Given the description of an element on the screen output the (x, y) to click on. 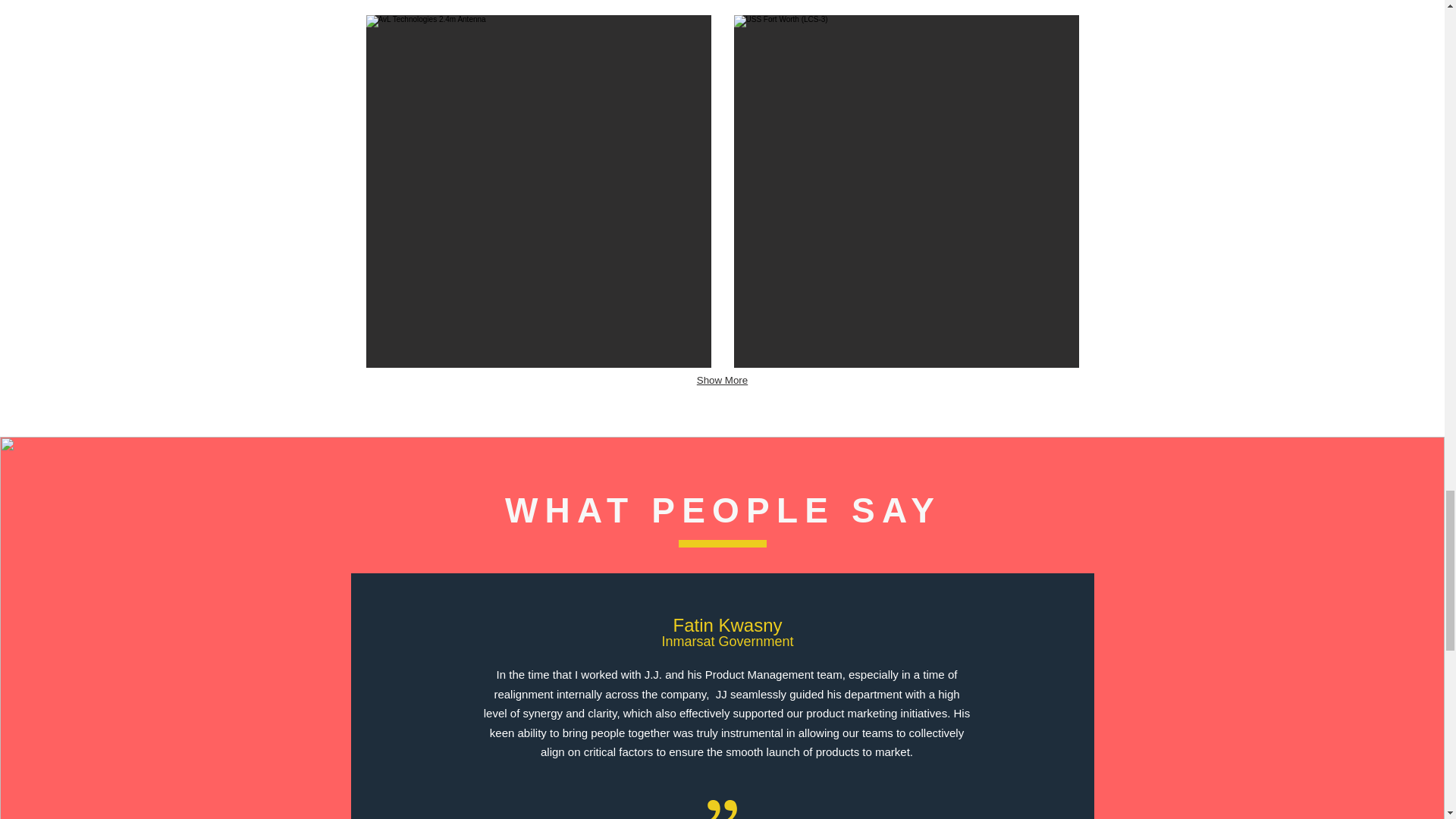
Show More (721, 381)
